Given the description of an element on the screen output the (x, y) to click on. 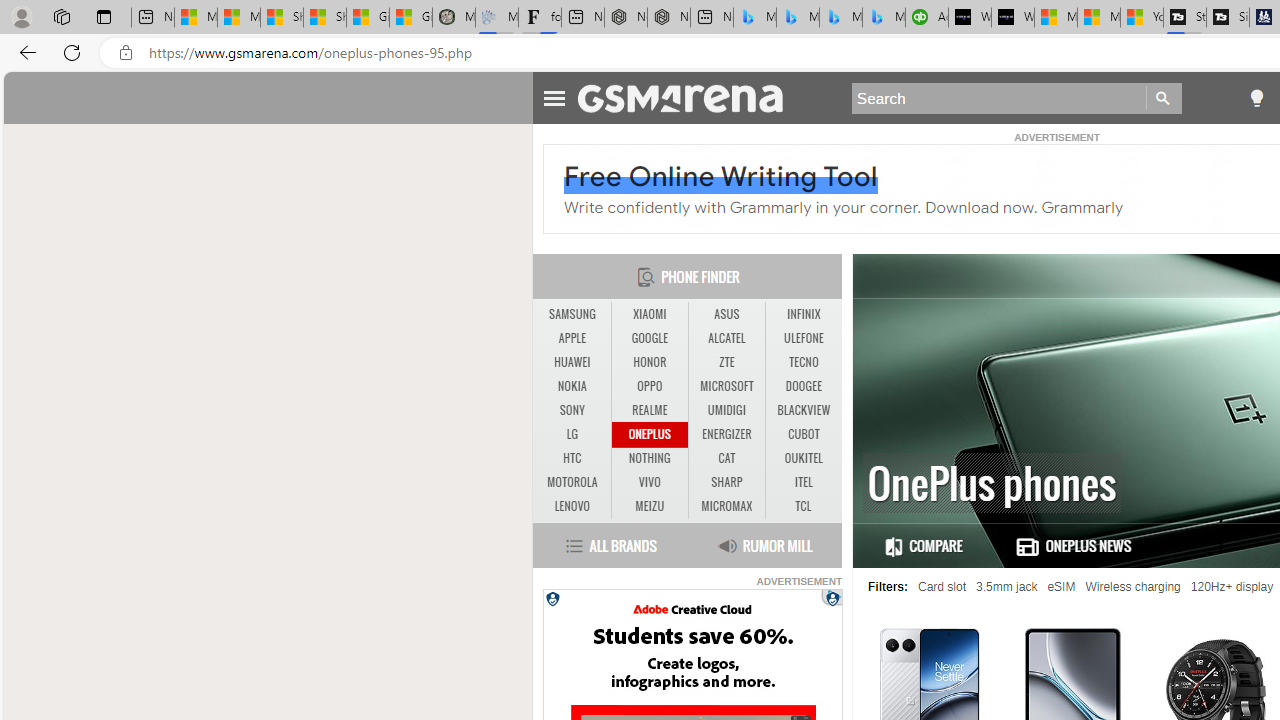
AutomationID: button (552, 598)
Privacy Notification (552, 598)
3.5mm jack (1007, 587)
LG (571, 434)
MICROMAX (726, 506)
eSIM (1061, 587)
LG (571, 434)
Card slot (941, 587)
ZTE (726, 362)
XIAOMI (649, 314)
ULEFONE (803, 339)
